Given the description of an element on the screen output the (x, y) to click on. 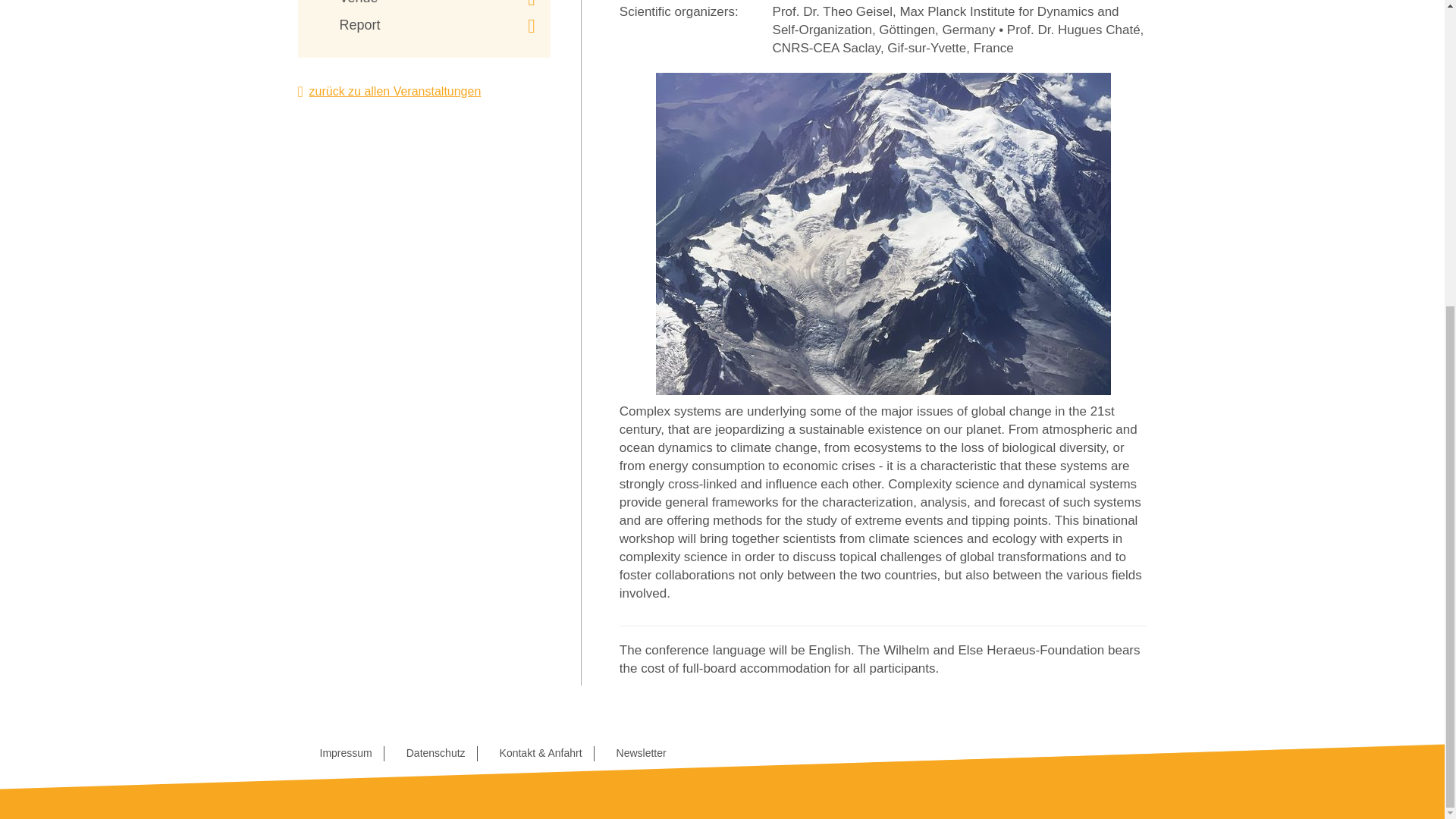
Report (437, 25)
Impressum (346, 752)
Venue (437, 4)
Datenschutz (435, 752)
Newsletter (640, 752)
